Given the description of an element on the screen output the (x, y) to click on. 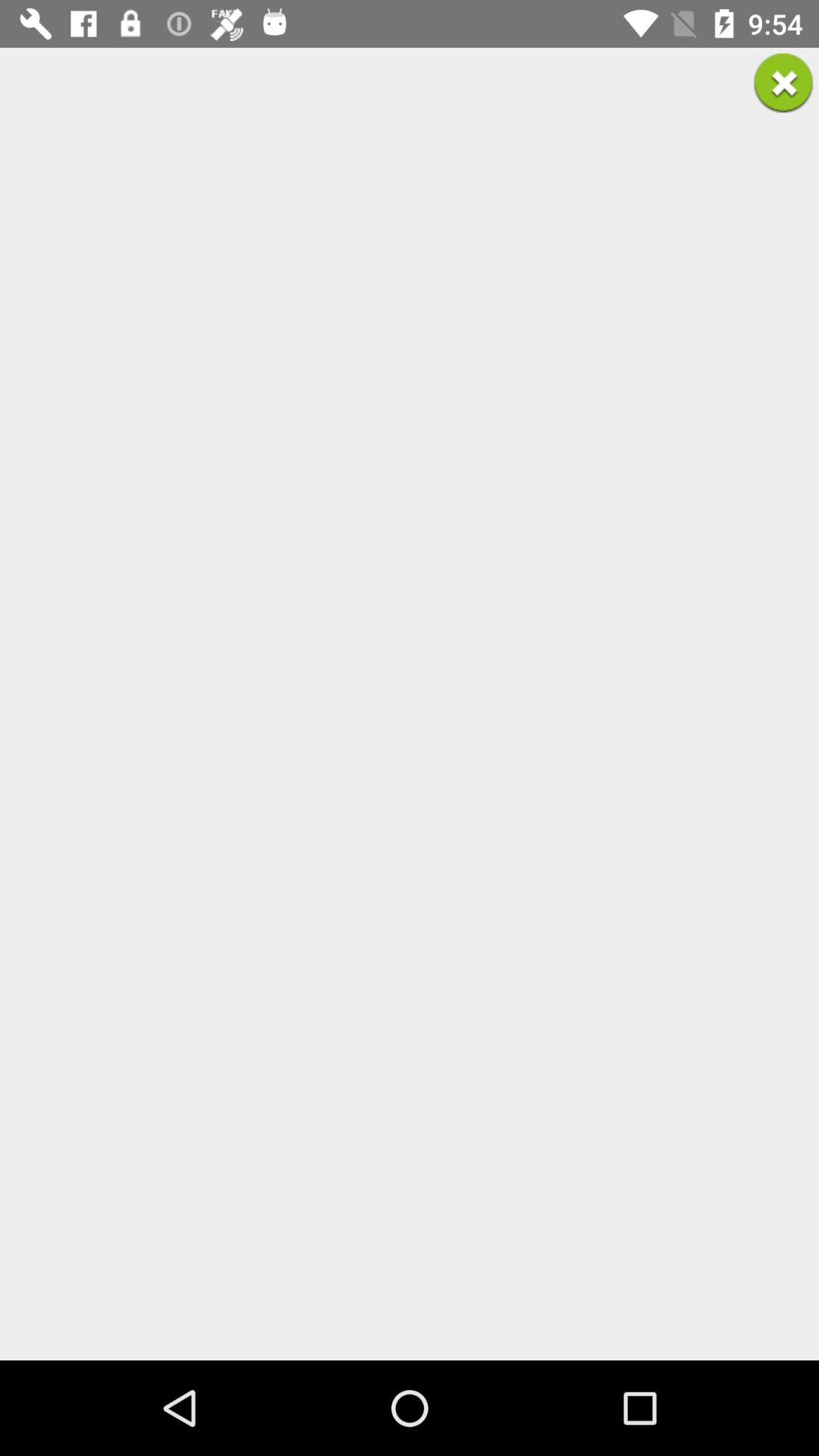
close selection (783, 83)
